Given the description of an element on the screen output the (x, y) to click on. 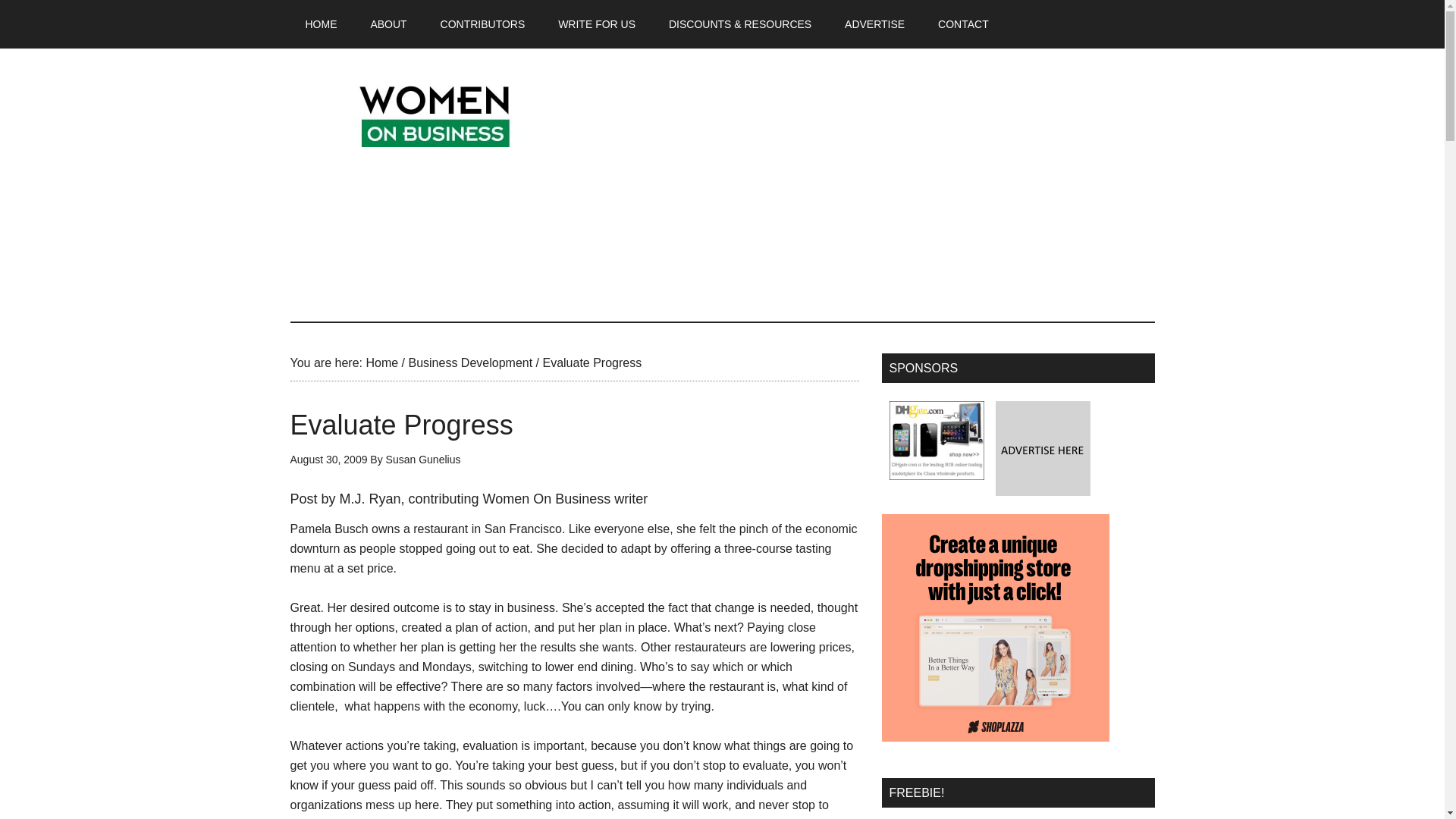
Susan Gunelius (423, 459)
Advertisement (878, 184)
HOME (320, 24)
DHgate - Do business with China wholesalers online (936, 440)
ADVERTISE (874, 24)
ABOUT (388, 24)
CONTACT (963, 24)
Women on Business (433, 112)
WRITE FOR US (596, 24)
Home (381, 362)
Business Development (469, 362)
CONTRIBUTORS (482, 24)
